Given the description of an element on the screen output the (x, y) to click on. 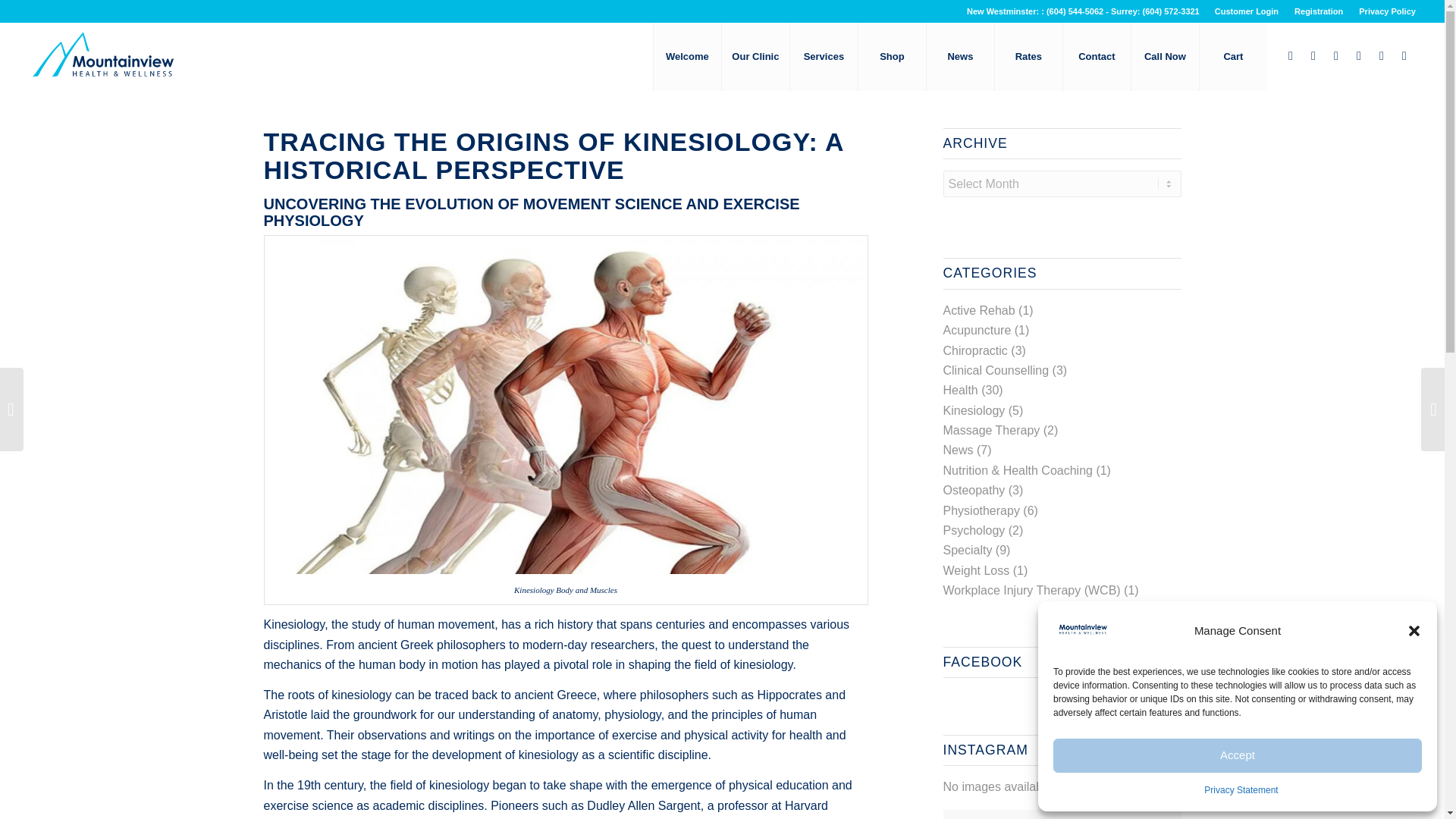
Accept (1237, 755)
Our Clinic (754, 56)
Welcome (686, 56)
Privacy Policy (1386, 11)
Customer Login (1246, 11)
Privacy Statement (1241, 790)
Registration (1318, 11)
WhatsApp (1381, 56)
Youtube (1359, 56)
LinkedIn (1336, 56)
